Given the description of an element on the screen output the (x, y) to click on. 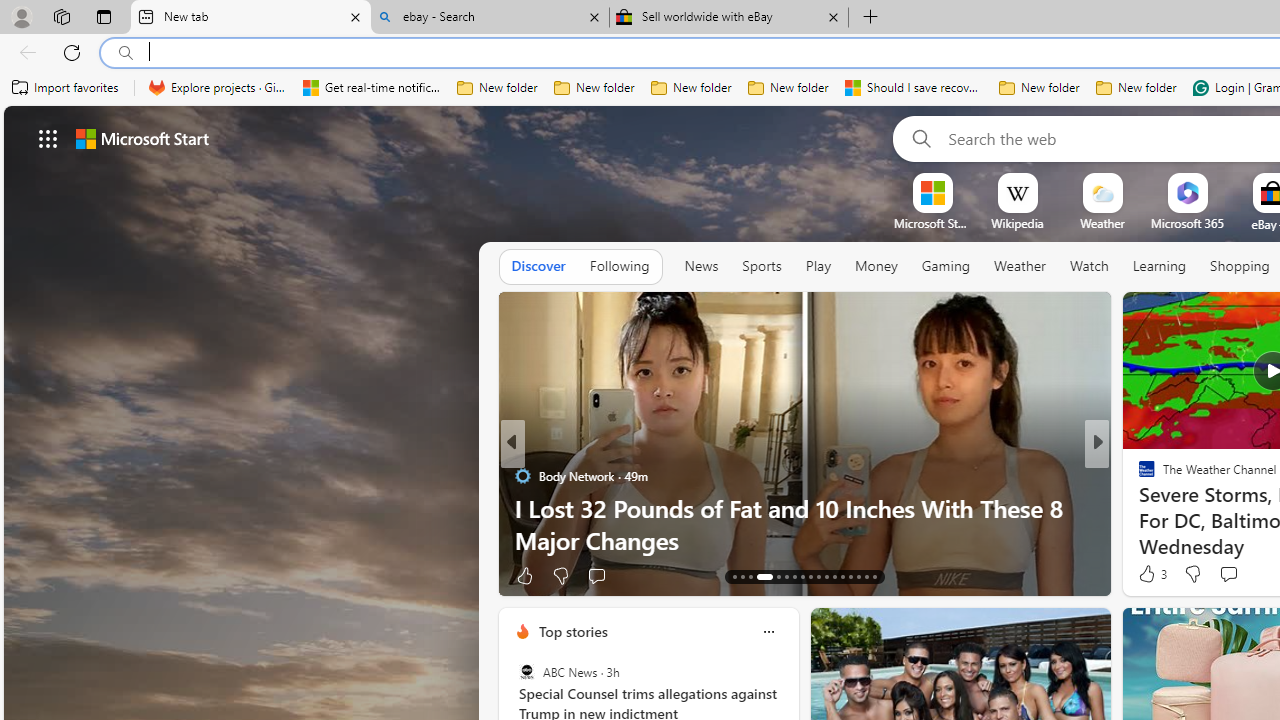
116 Like (1151, 574)
AutomationID: tab-20 (801, 576)
Search icon (125, 53)
View comments 167 Comment (1234, 575)
View comments 167 Comment (1247, 574)
Microsoft Start Sports (932, 223)
Weather (1019, 267)
Dislike (1191, 574)
AutomationID: tab-29 (874, 576)
AutomationID: tab-16 (757, 576)
The Independent (522, 475)
AutomationID: tab-19 (793, 576)
More Options (1219, 179)
